Given the description of an element on the screen output the (x, y) to click on. 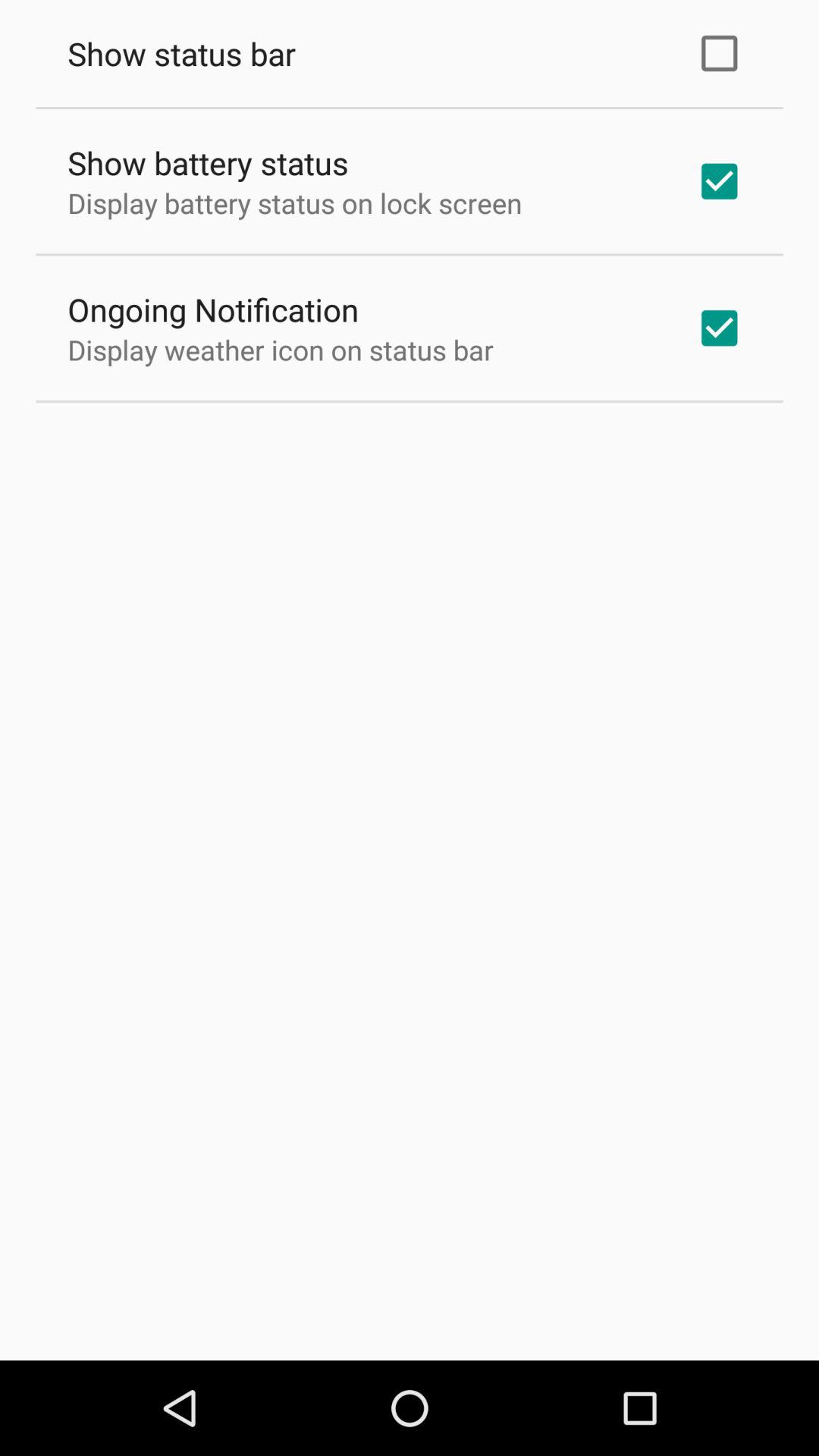
launch the app above the display weather icon (212, 309)
